Given the description of an element on the screen output the (x, y) to click on. 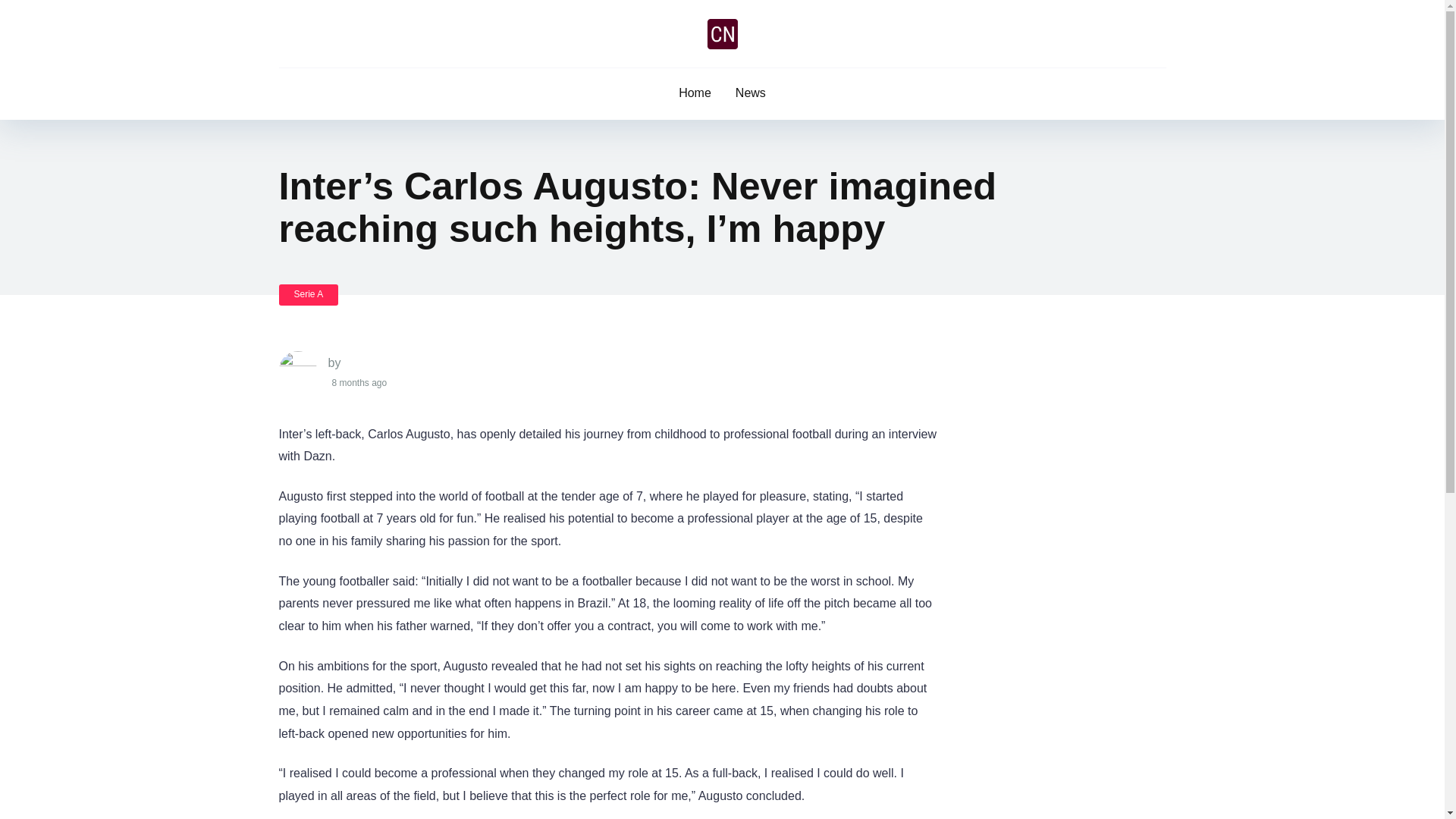
Calcio News (721, 33)
Home (694, 93)
Serie A (309, 294)
News (750, 93)
